Given the description of an element on the screen output the (x, y) to click on. 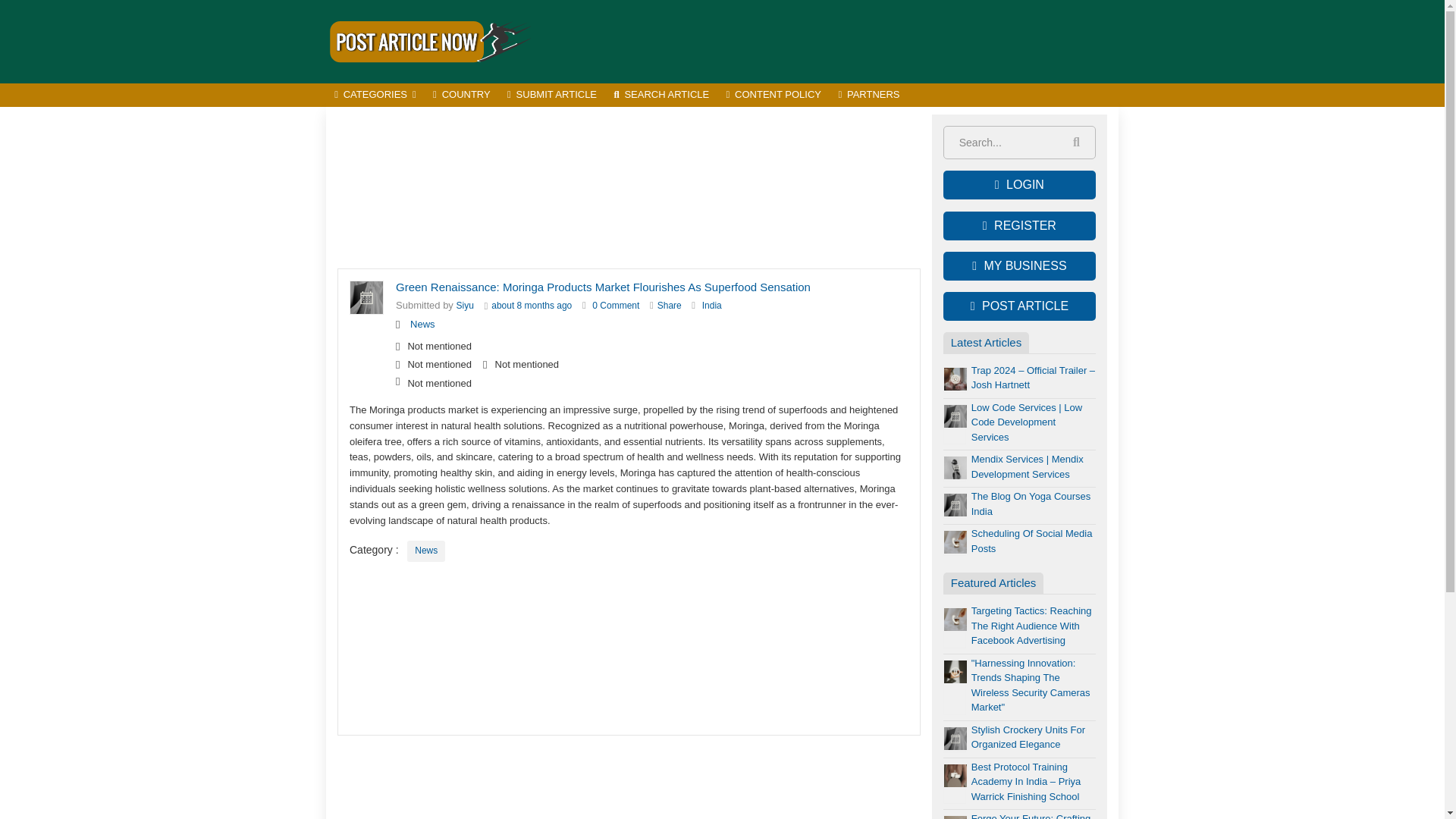
Siyu (465, 305)
about 8 months ago (532, 305)
REGISTER (1019, 225)
LOGIN (1019, 184)
Share (669, 305)
about 8 months ago (532, 305)
Advertisement (628, 187)
CONTENT POLICY (773, 95)
Advertisement (842, 41)
